Given the description of an element on the screen output the (x, y) to click on. 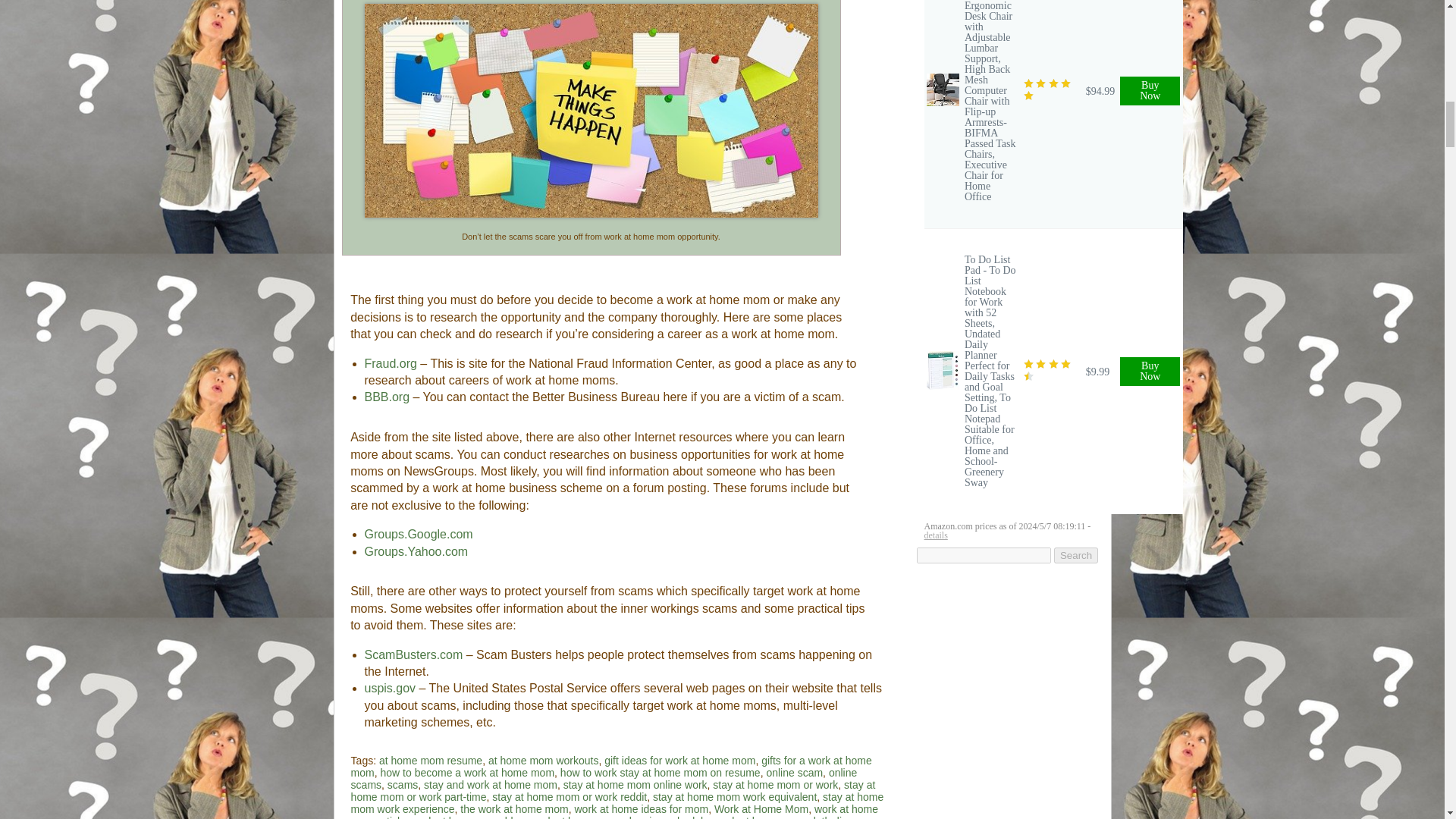
stay at home mom online work (635, 784)
how to become a work at home mom (467, 772)
stay at home mom or work (775, 784)
ScamBusters.com (413, 654)
gifts for a work at home mom (611, 766)
uspis.gov (389, 687)
how to work stay at home mom on resume (660, 772)
scams (402, 784)
online scam (793, 772)
at home mom workouts (542, 760)
